Given the description of an element on the screen output the (x, y) to click on. 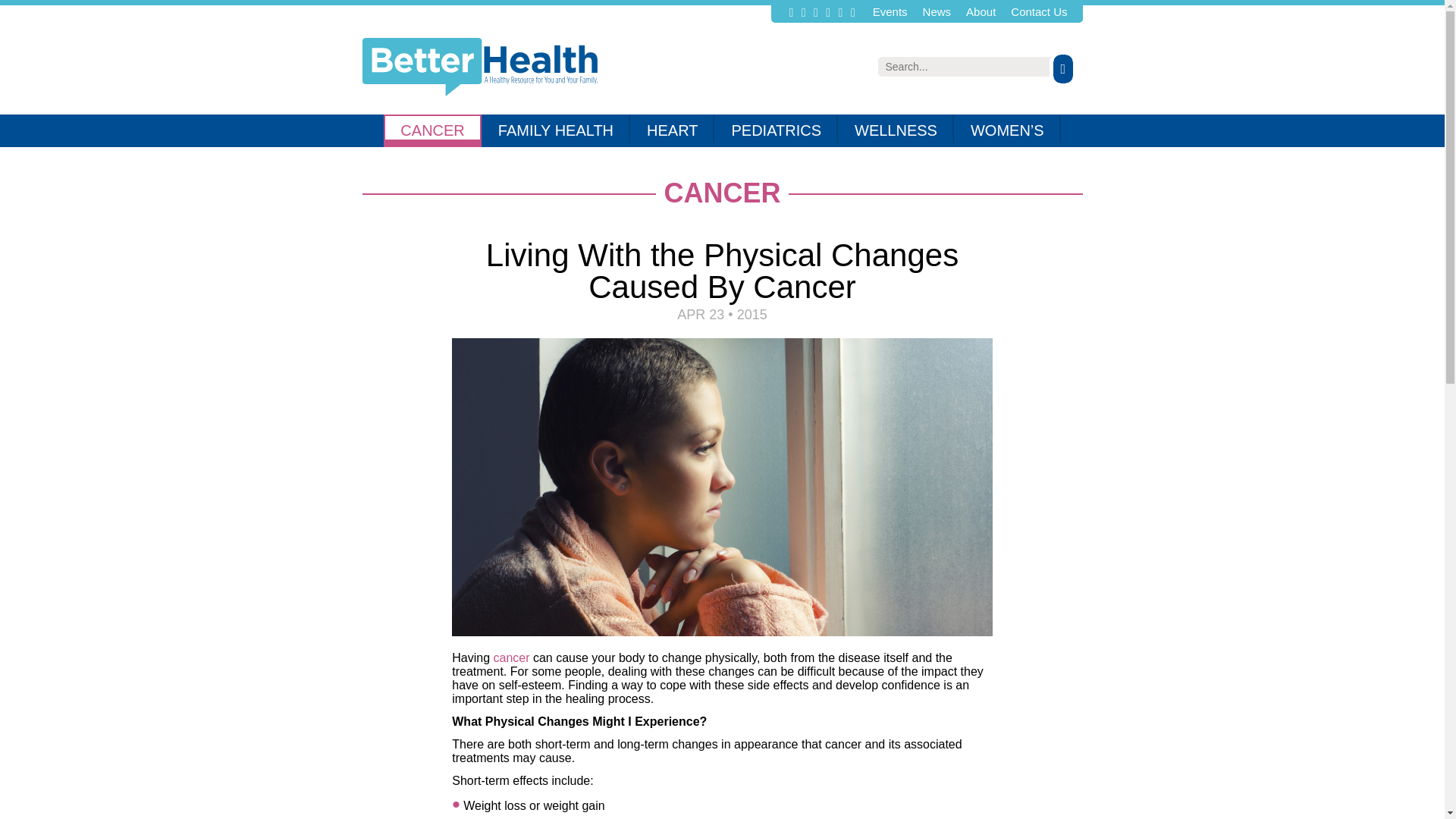
CANCER (432, 130)
cancer (512, 657)
FAMILY HEALTH (555, 130)
WELLNESS (895, 130)
News (937, 11)
Events (889, 11)
PEDIATRICS (776, 130)
Contact Us (1038, 11)
HEART (672, 130)
About (980, 11)
